Given the description of an element on the screen output the (x, y) to click on. 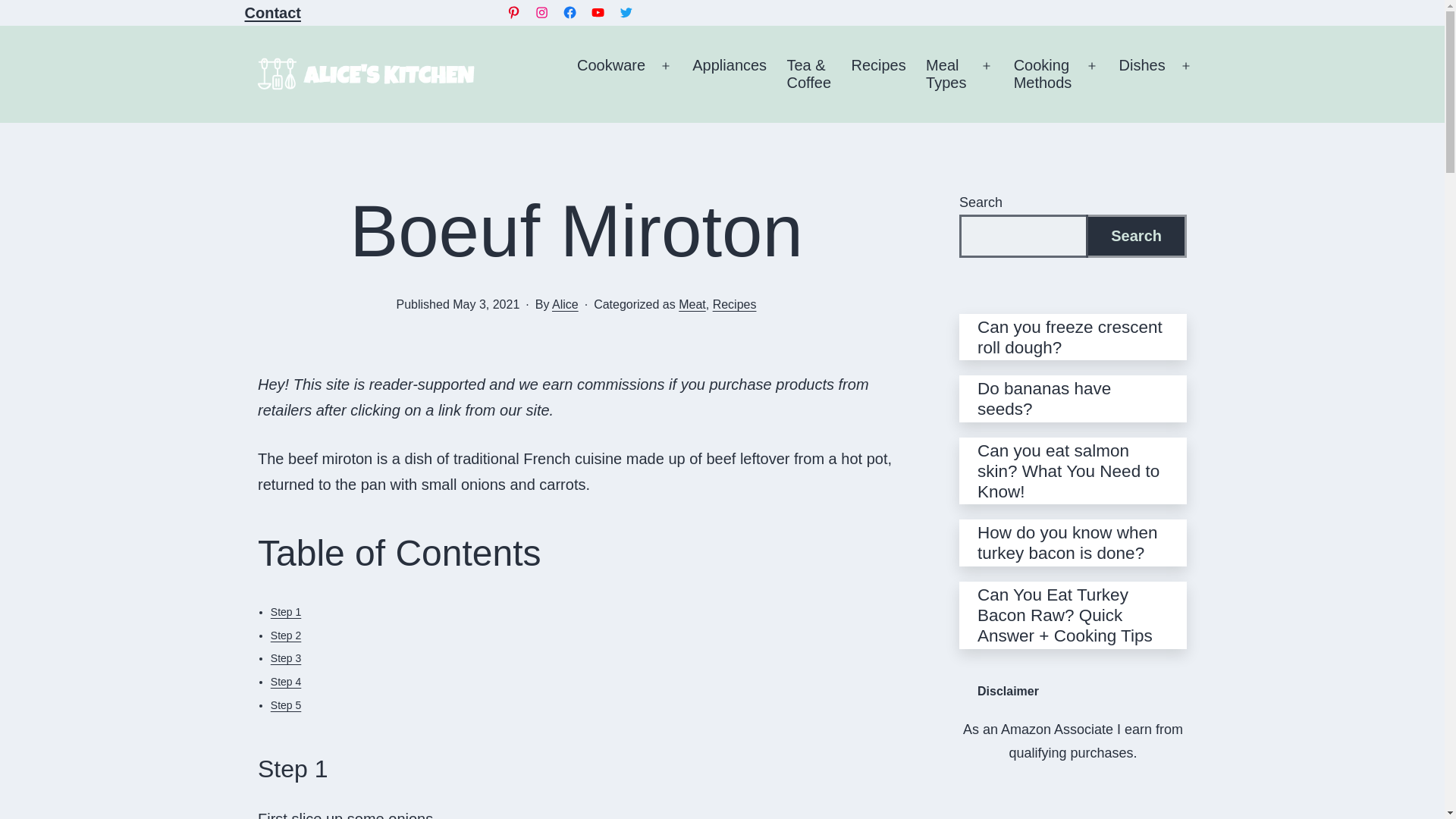
YouTube (945, 73)
Contact (598, 11)
Facebook (271, 12)
Pinterest (569, 11)
Twitter (513, 11)
Cookware (625, 11)
Appliances (611, 73)
Instagram (729, 73)
Recipes (541, 11)
